Given the description of an element on the screen output the (x, y) to click on. 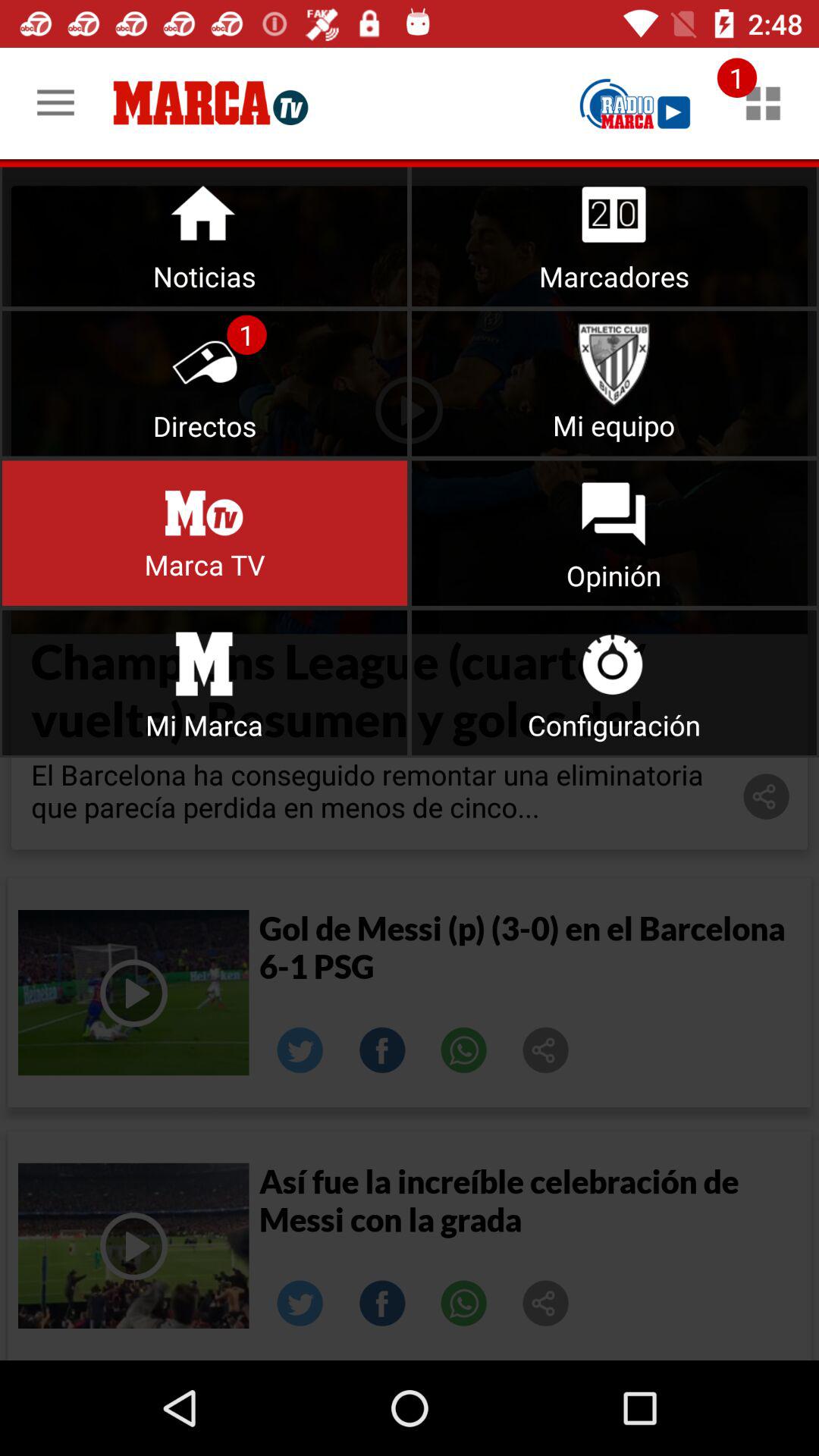
linked.in image (300, 1050)
